Given the description of an element on the screen output the (x, y) to click on. 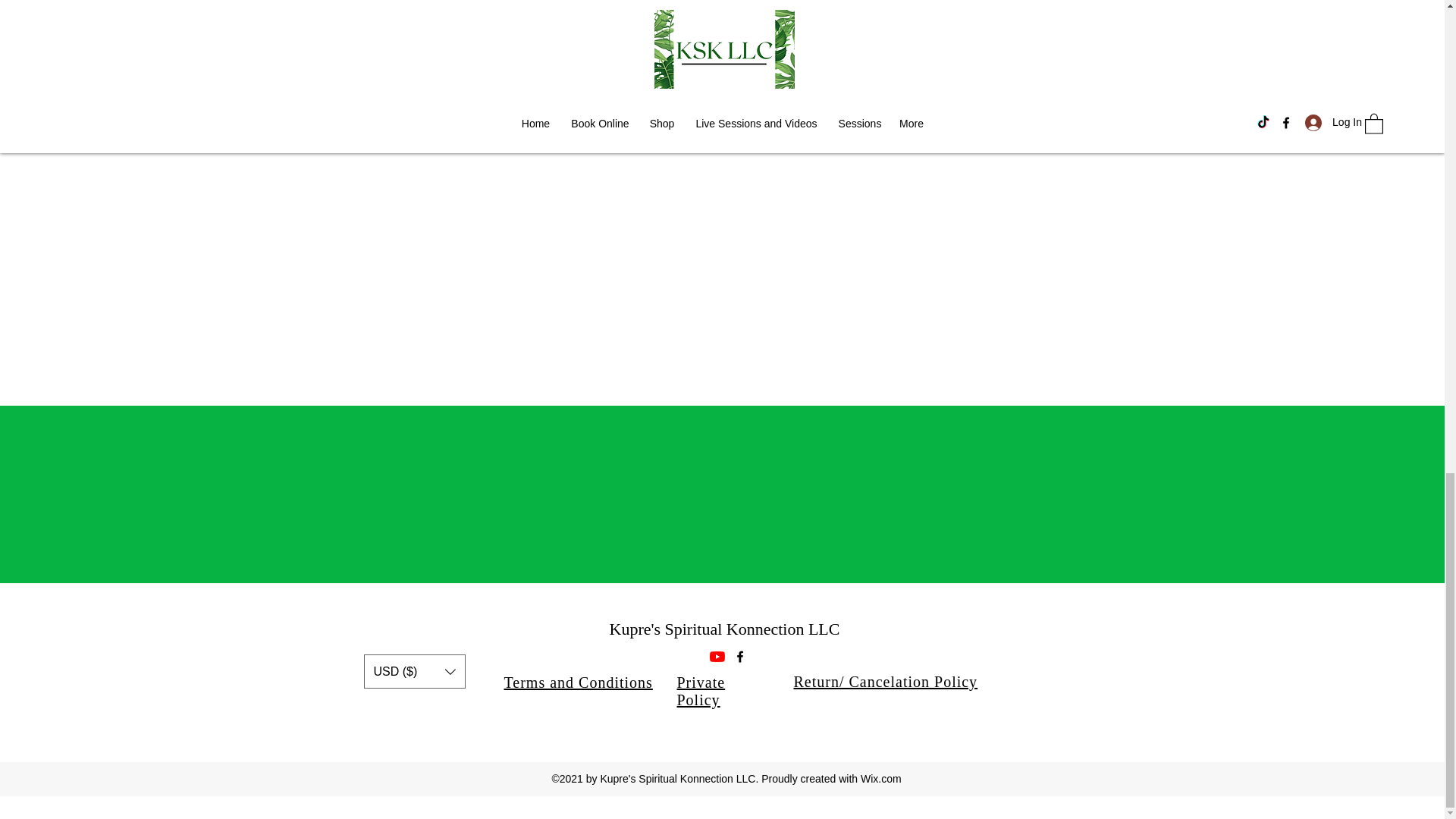
Private Policy (701, 691)
Kupre's Spiritual Konnection LLC (725, 628)
Terms and Conditions (577, 682)
